Given the description of an element on the screen output the (x, y) to click on. 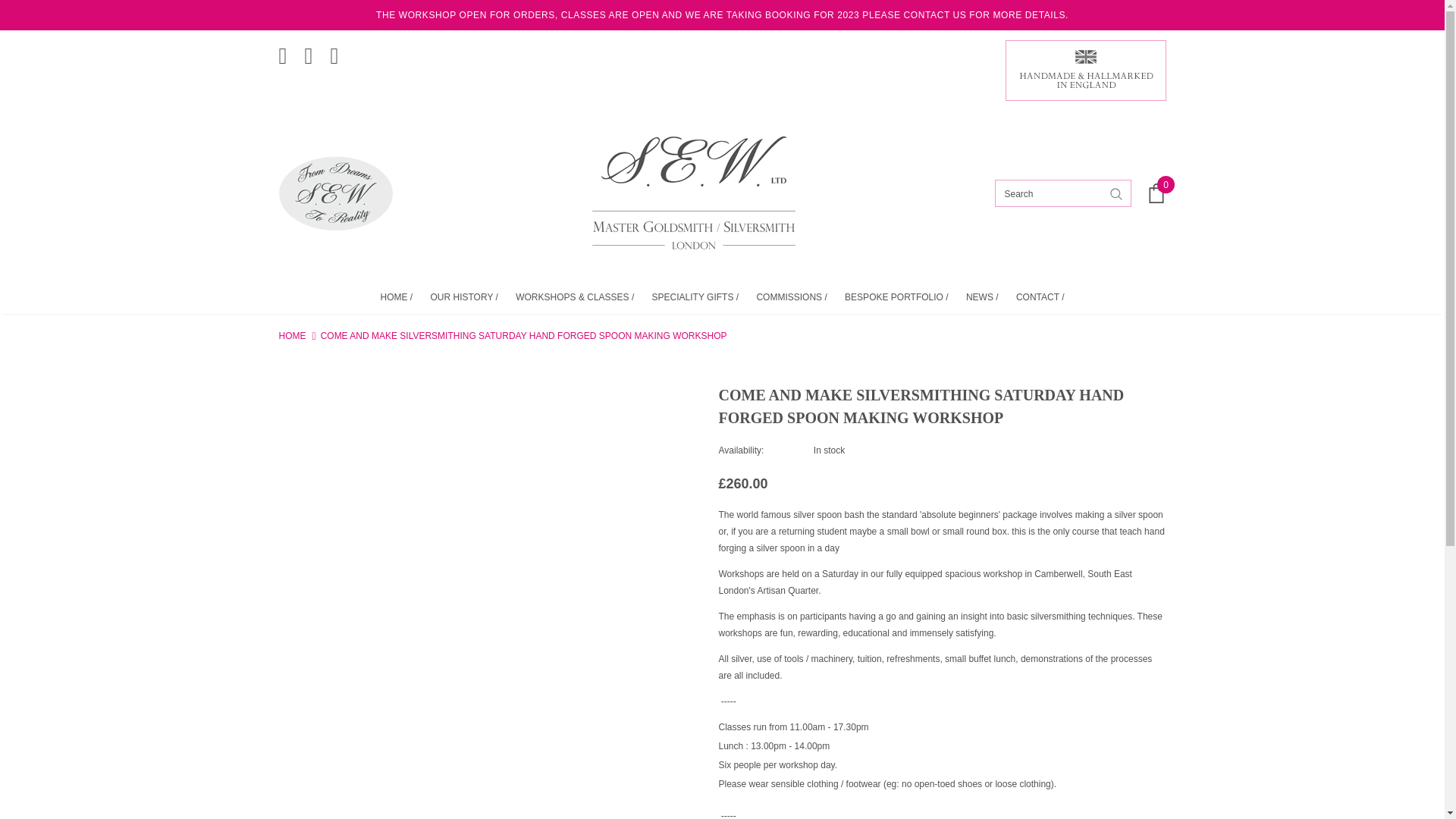
HOME (292, 335)
0 (1156, 193)
Cart Icon (1156, 193)
Twitter (313, 45)
Instagram (339, 45)
Facebook (288, 45)
Logo (692, 190)
